Given the description of an element on the screen output the (x, y) to click on. 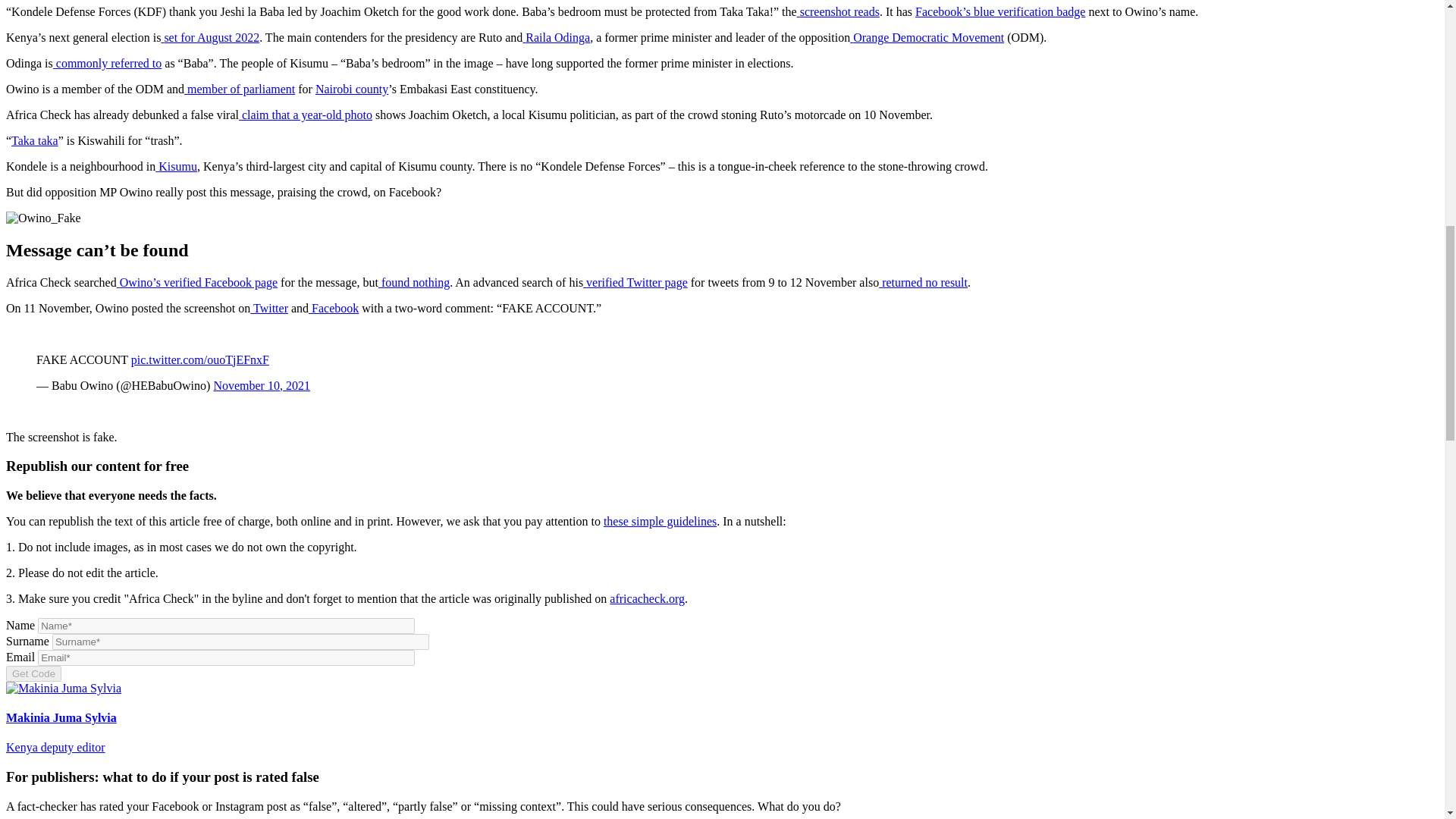
Get Code (33, 673)
